Given the description of an element on the screen output the (x, y) to click on. 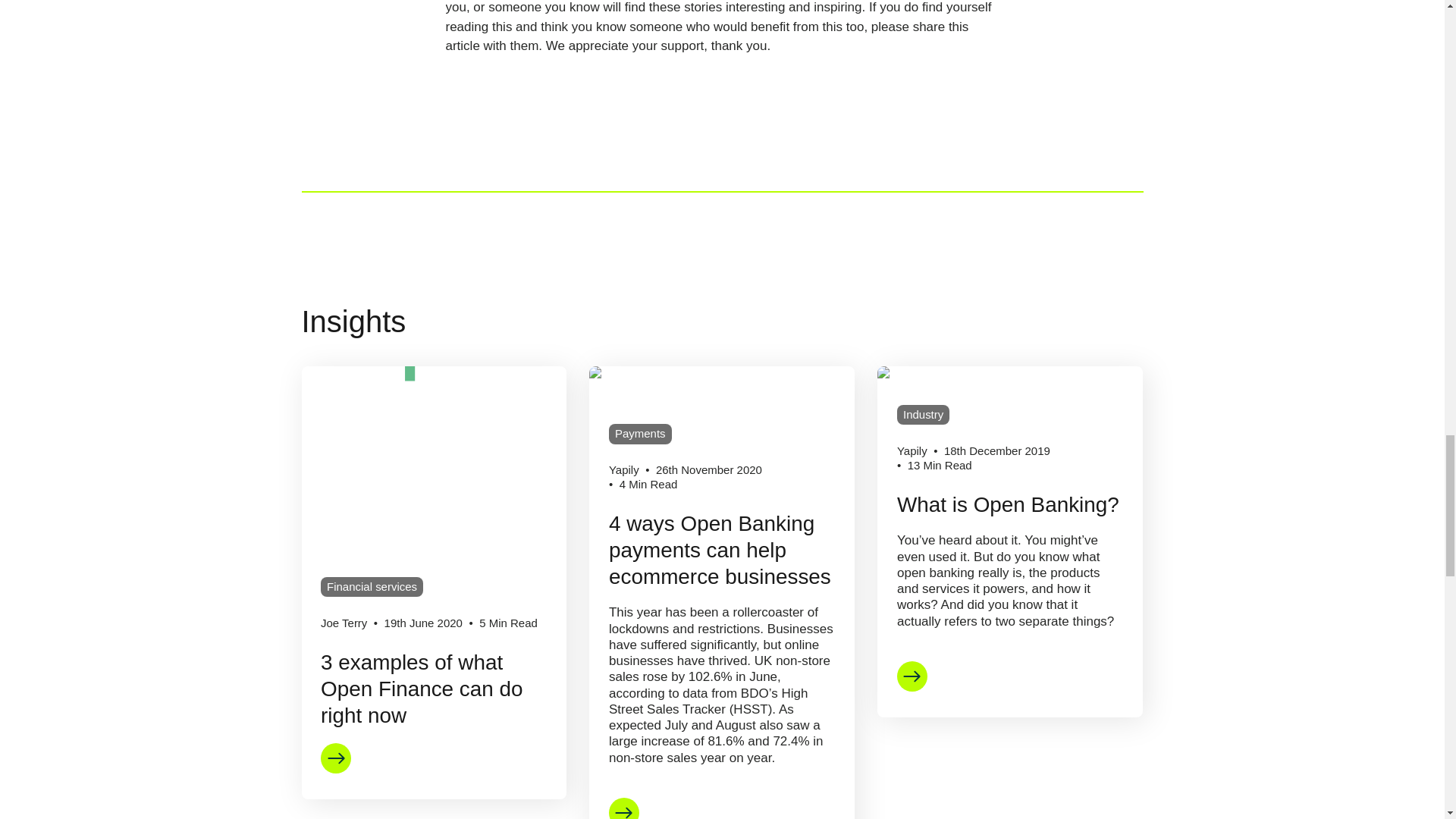
View Article (335, 757)
View Article (911, 675)
View Article (623, 808)
